Given the description of an element on the screen output the (x, y) to click on. 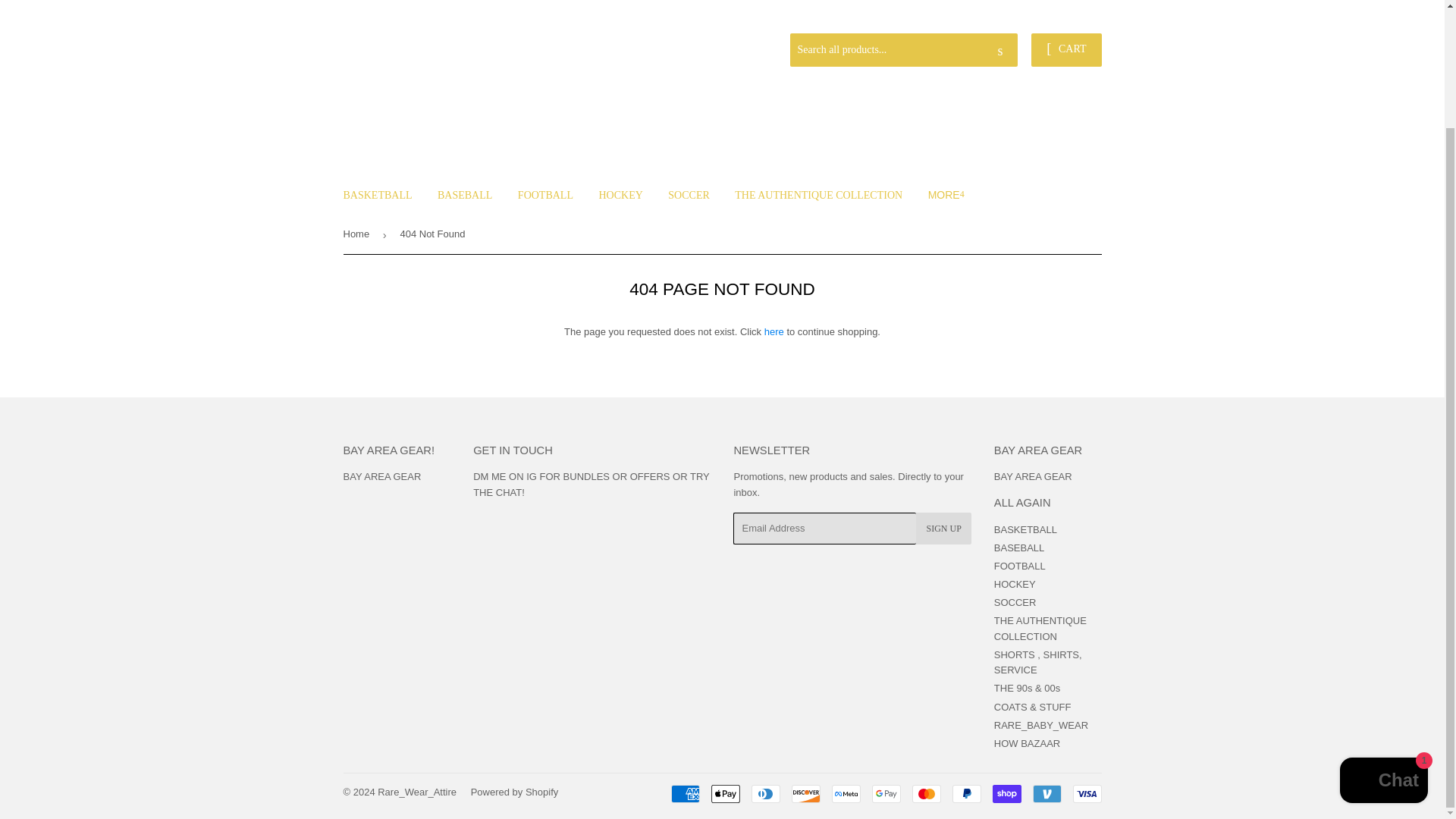
15 PERCENT OFF ON OTTO (1034, 9)
Google Pay (886, 793)
Create an Account (1063, 13)
FOOTBALL (545, 195)
SOCCER (688, 195)
BASKETBALL (377, 195)
CART (1065, 49)
Apple Pay (725, 793)
Discover (806, 793)
Venmo (1046, 793)
THE AUTHENTIQUE COLLECTION (818, 195)
Sign in (993, 13)
MORE (946, 194)
Shop Pay (1005, 793)
Search (1000, 50)
